Given the description of an element on the screen output the (x, y) to click on. 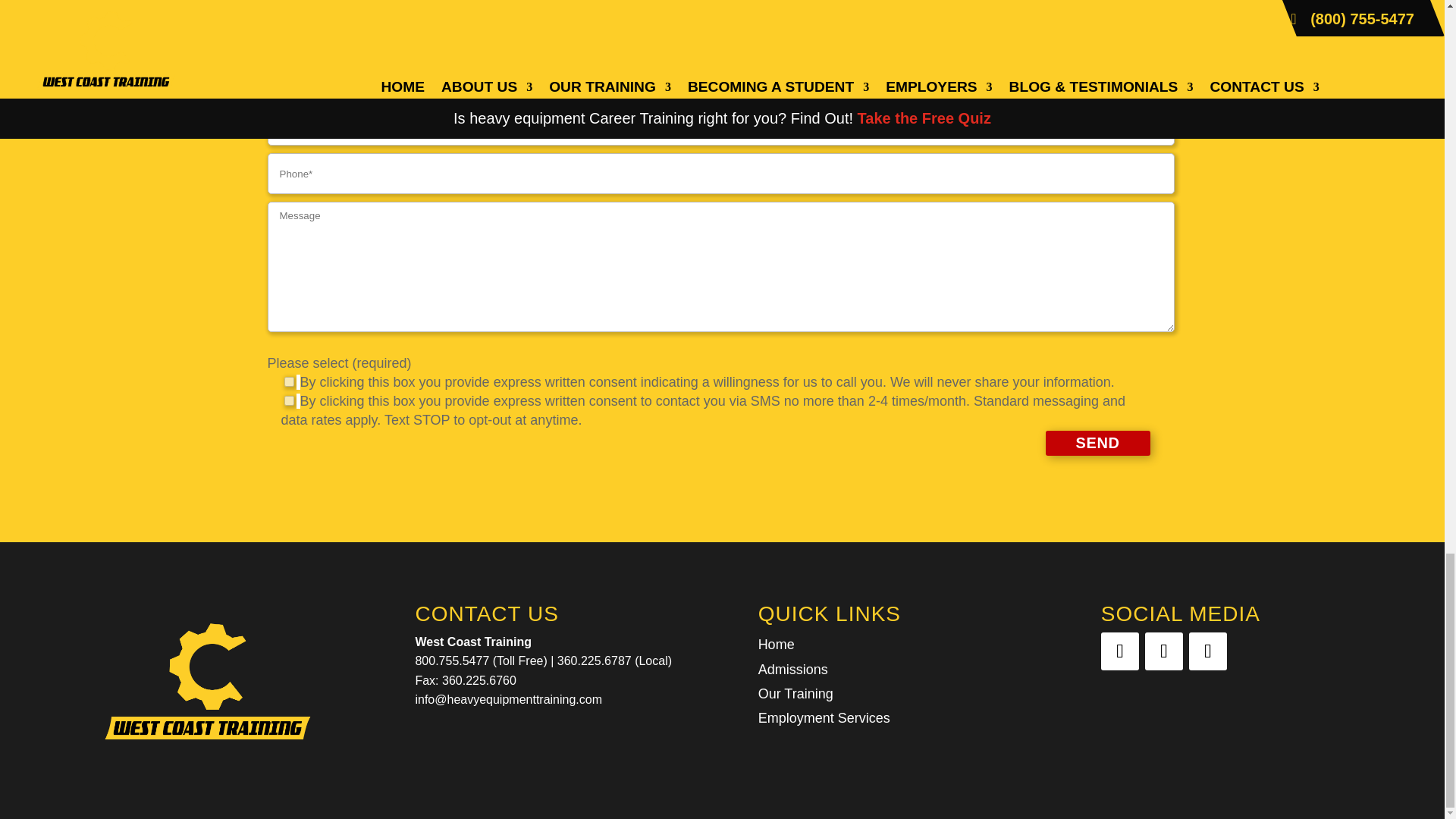
send (1097, 442)
logo (207, 680)
Follow on Facebook (1119, 651)
Follow on X (1163, 651)
Follow on Instagram (1208, 651)
